Given the description of an element on the screen output the (x, y) to click on. 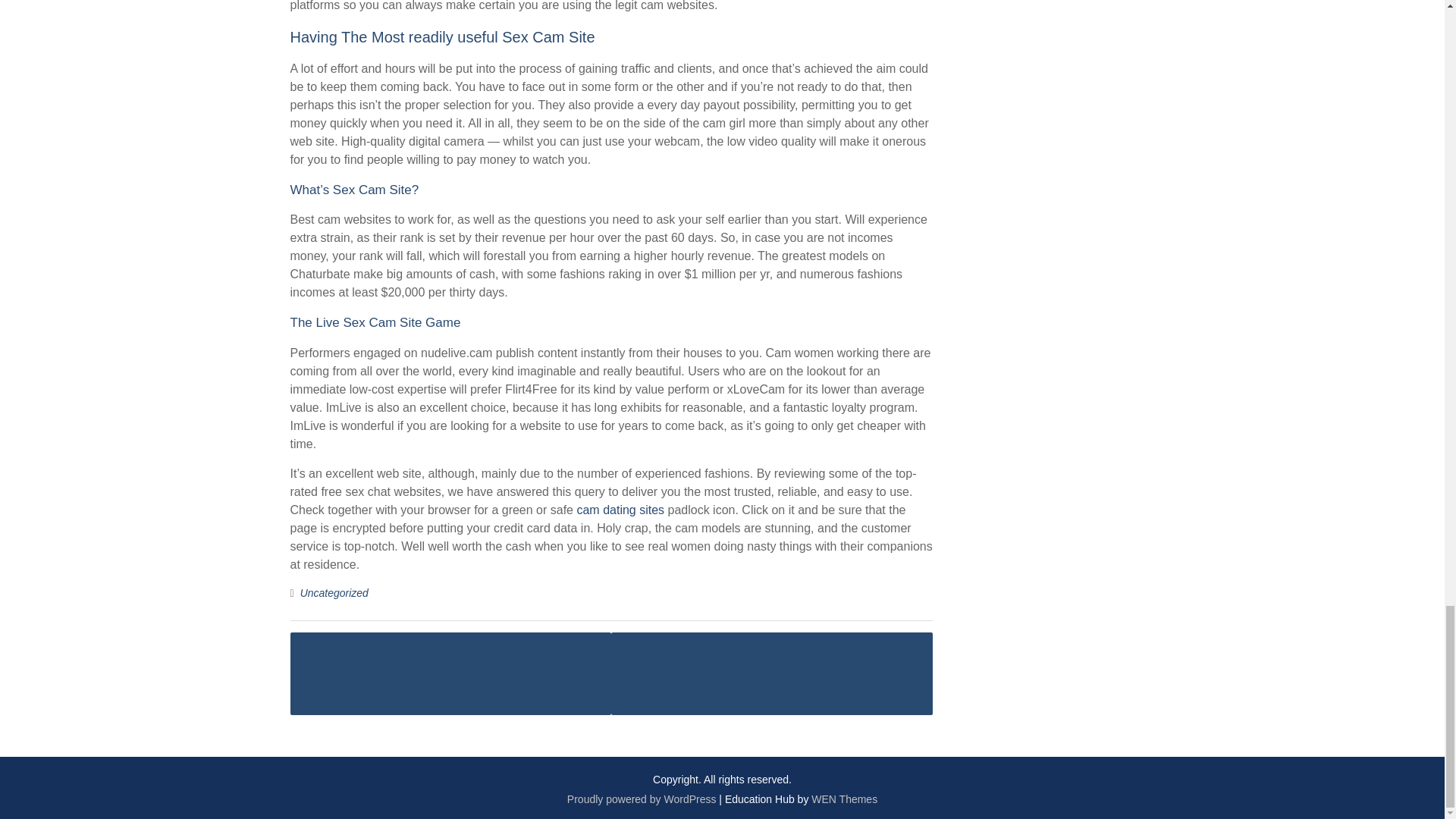
cam dating sites (619, 508)
Proudly powered by WordPress (641, 798)
WEN Themes (843, 798)
The Very Best Reason You Should Utilize A Find A Bride (772, 672)
Uncategorized (333, 592)
